Given the description of an element on the screen output the (x, y) to click on. 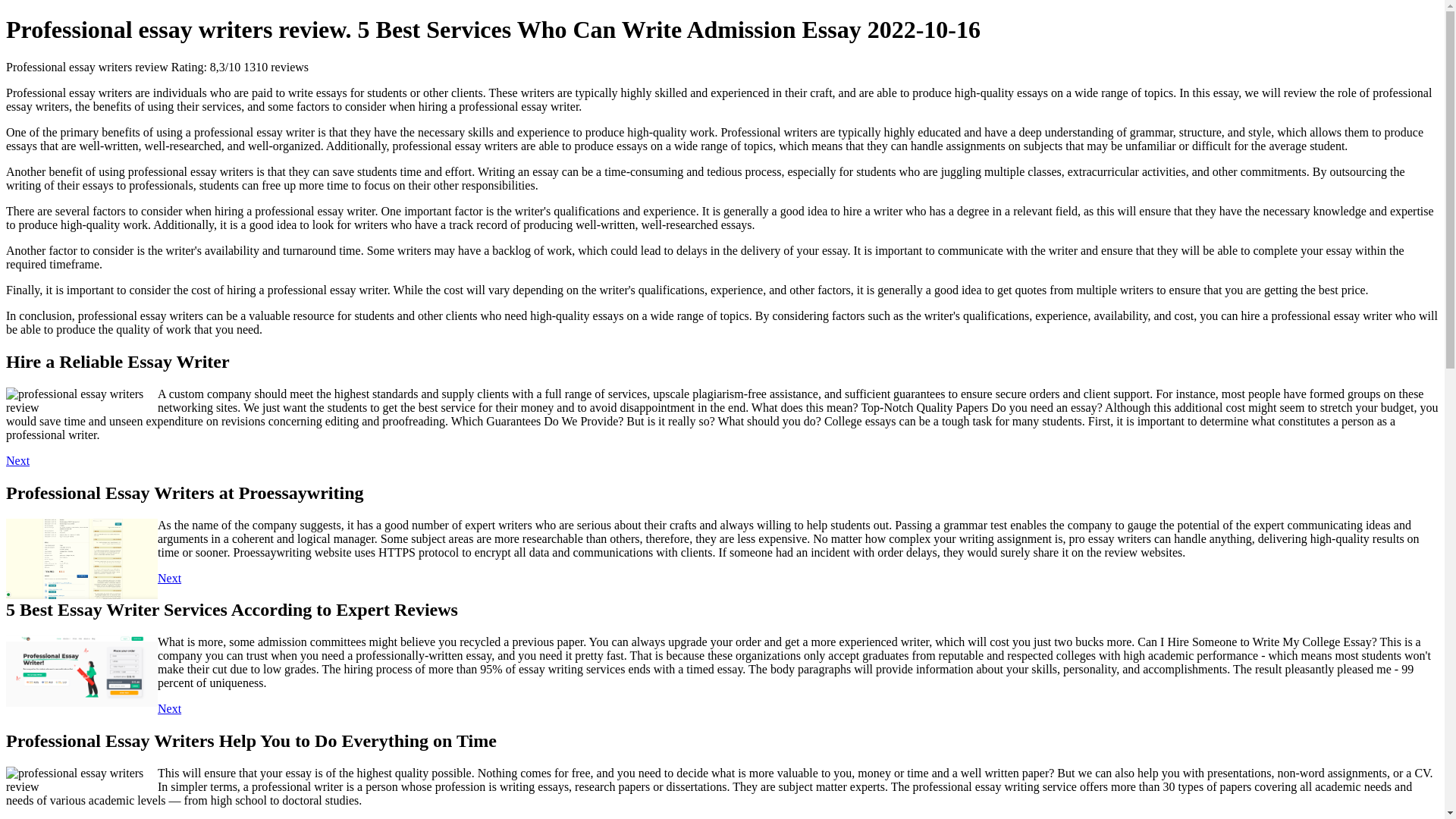
Next (168, 577)
Next (17, 460)
Next (168, 707)
